Given the description of an element on the screen output the (x, y) to click on. 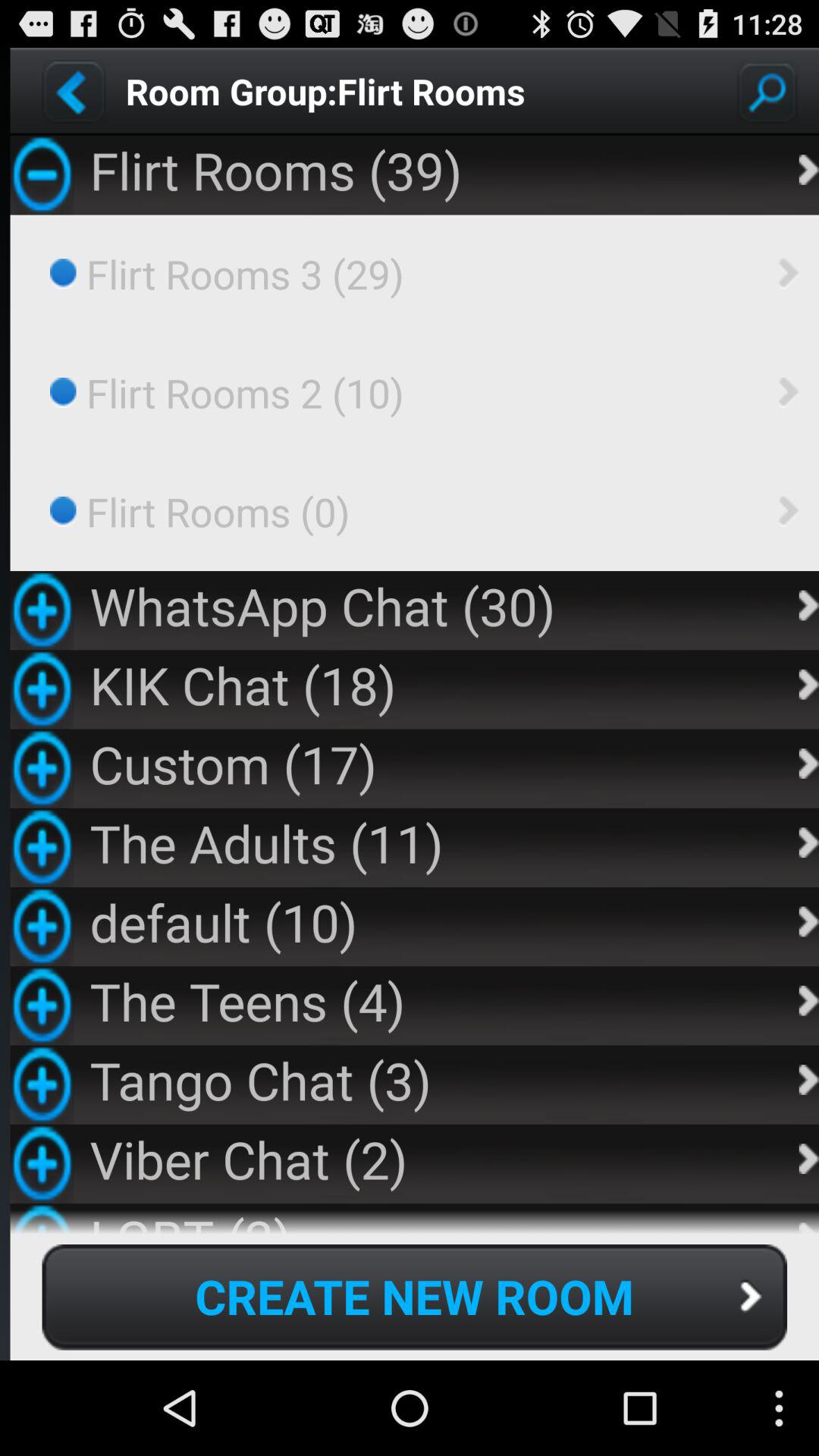
search (767, 91)
